Given the description of an element on the screen output the (x, y) to click on. 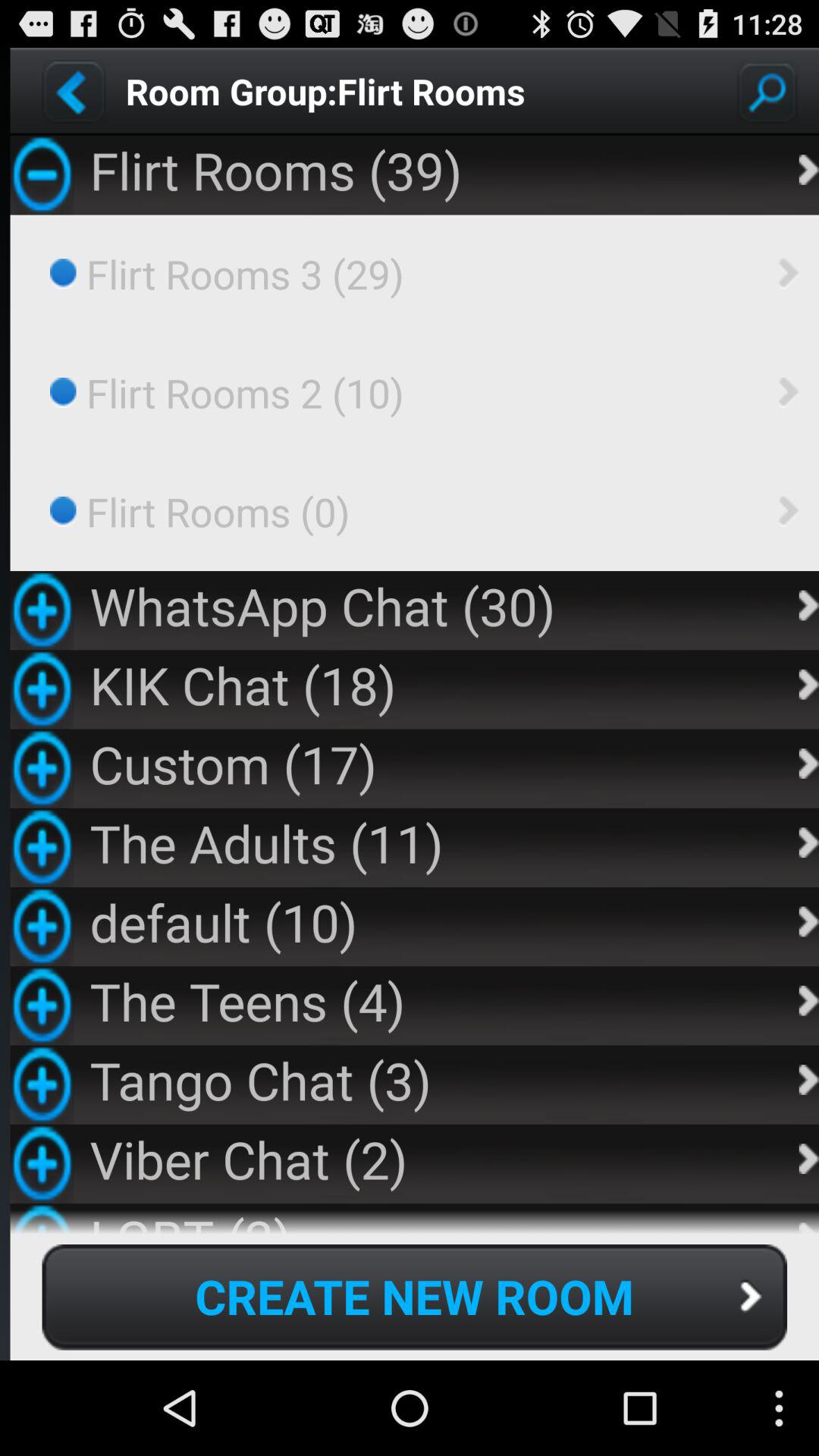
search (767, 91)
